Given the description of an element on the screen output the (x, y) to click on. 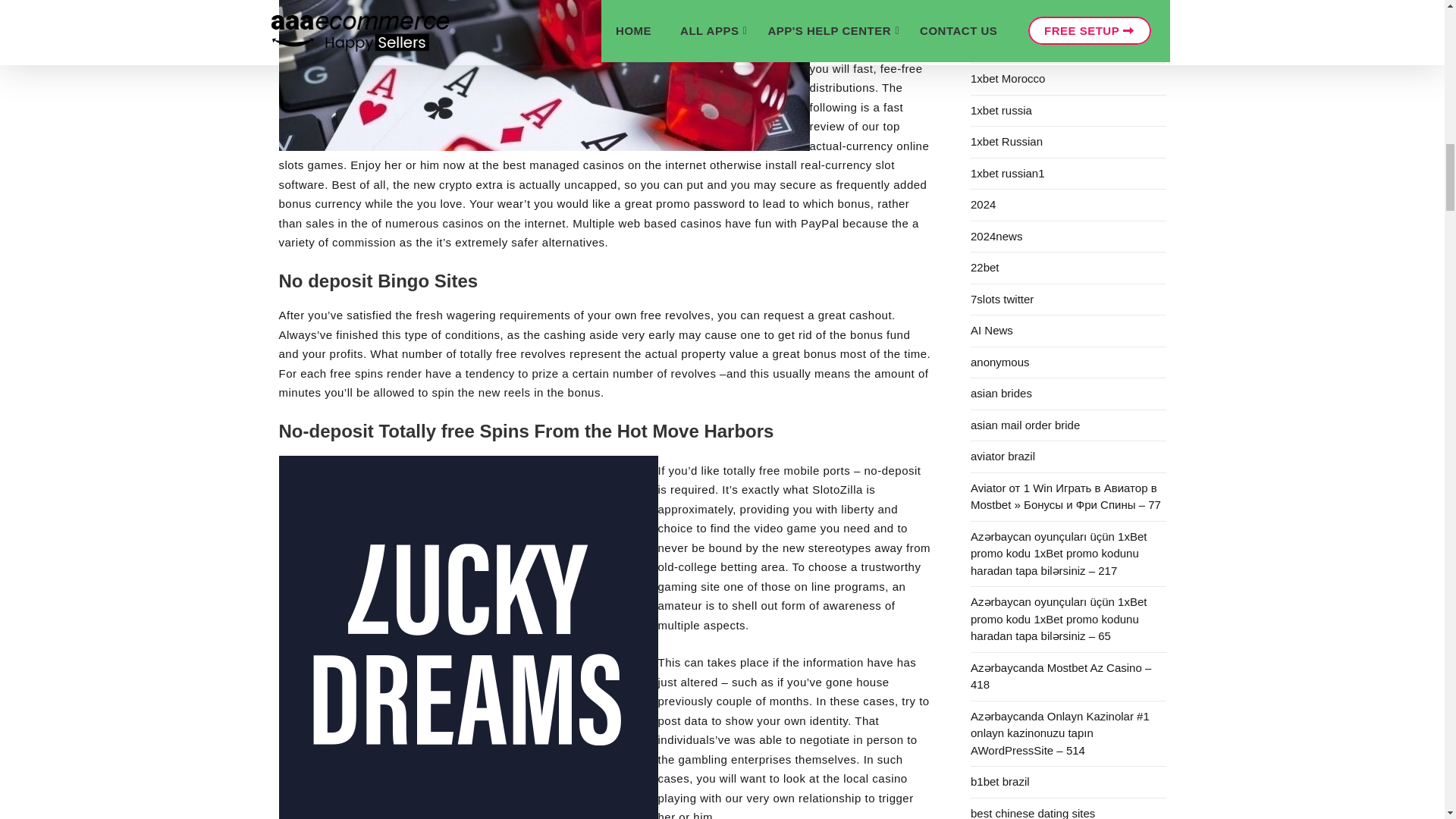
anonymous (1068, 362)
